Given the description of an element on the screen output the (x, y) to click on. 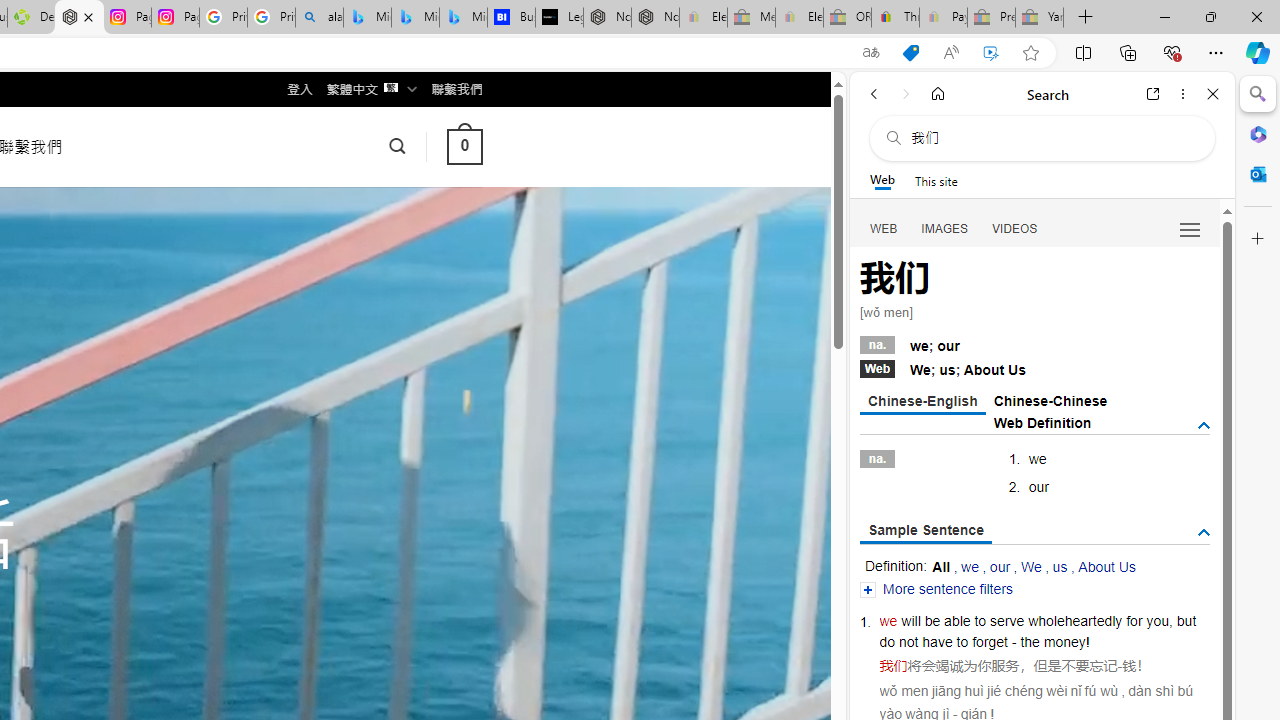
Microsoft Bing Travel - Flights from Hong Kong to Bangkok (367, 17)
WebWe; us; About Us (1034, 367)
- (1119, 665)
Show translate options (870, 53)
for (1134, 620)
Enhance video (991, 53)
